Given the description of an element on the screen output the (x, y) to click on. 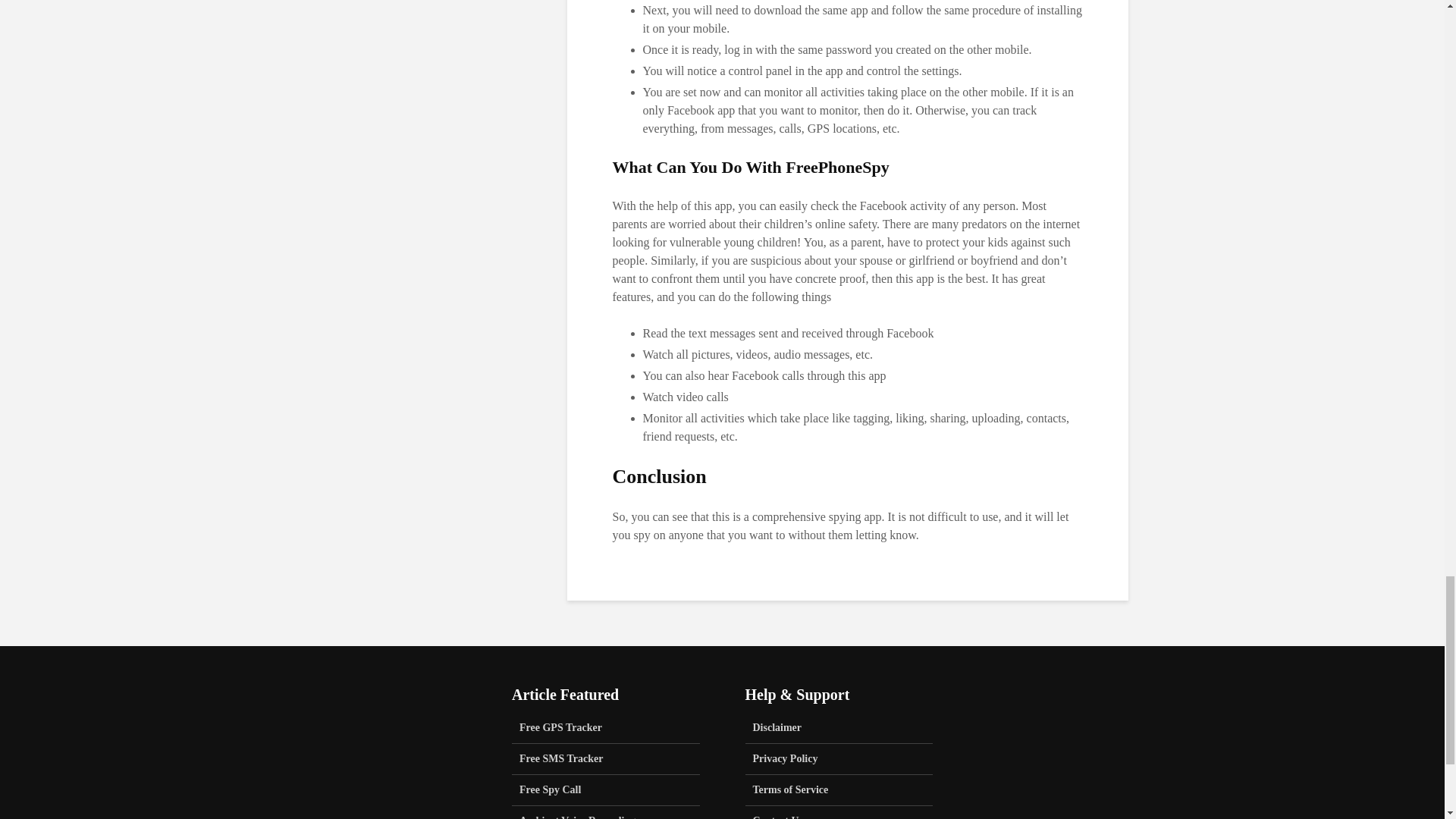
Free Spy Call (606, 789)
Free SMS Tracker (606, 758)
Free GPS Tracker (606, 731)
Ambient Voice Recording (606, 812)
